Given the description of an element on the screen output the (x, y) to click on. 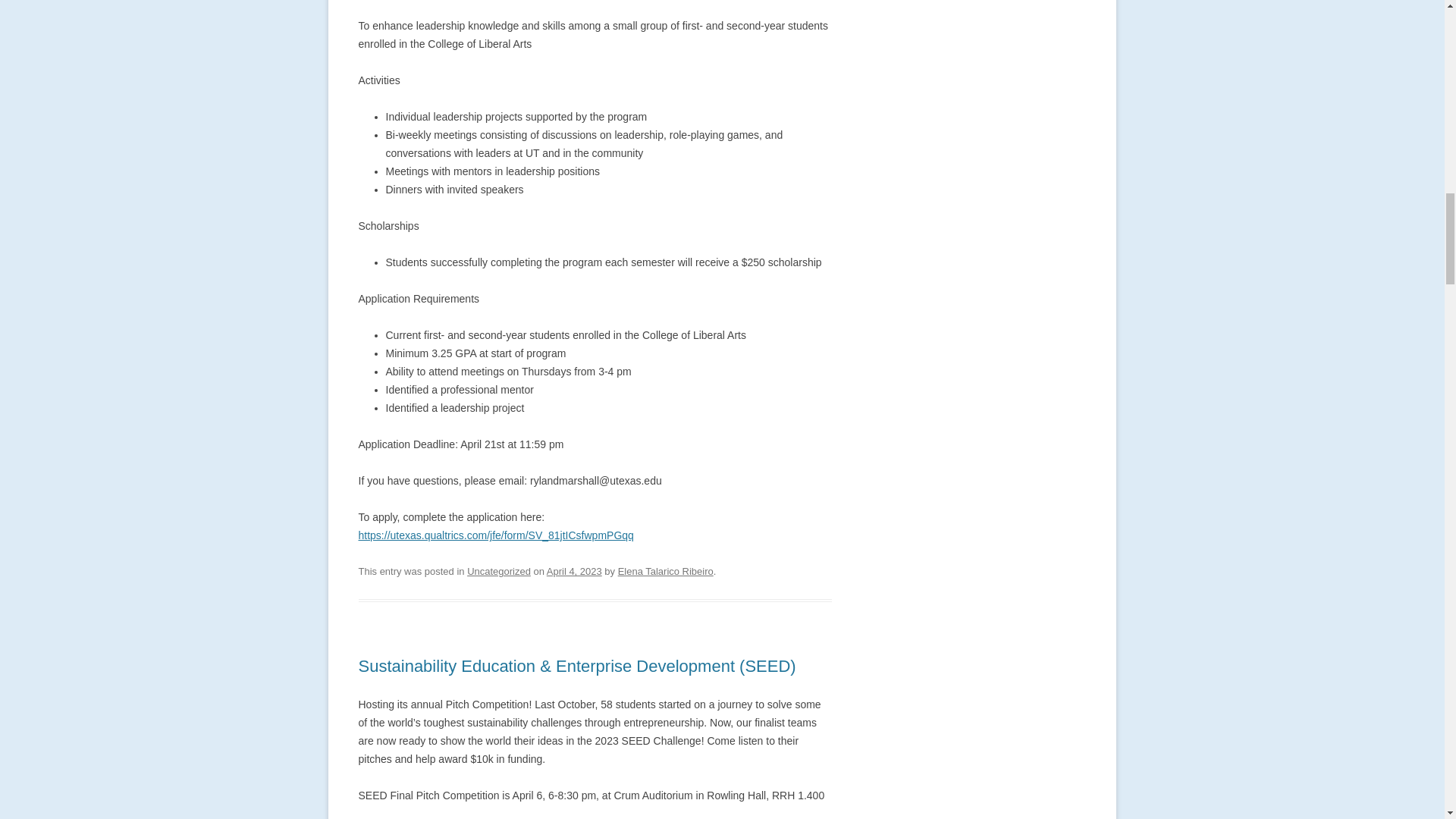
April 4, 2023 (574, 571)
Elena Talarico Ribeiro (665, 571)
11:17 am (574, 571)
Uncategorized (499, 571)
View all posts by Elena Talarico Ribeiro (665, 571)
